Given the description of an element on the screen output the (x, y) to click on. 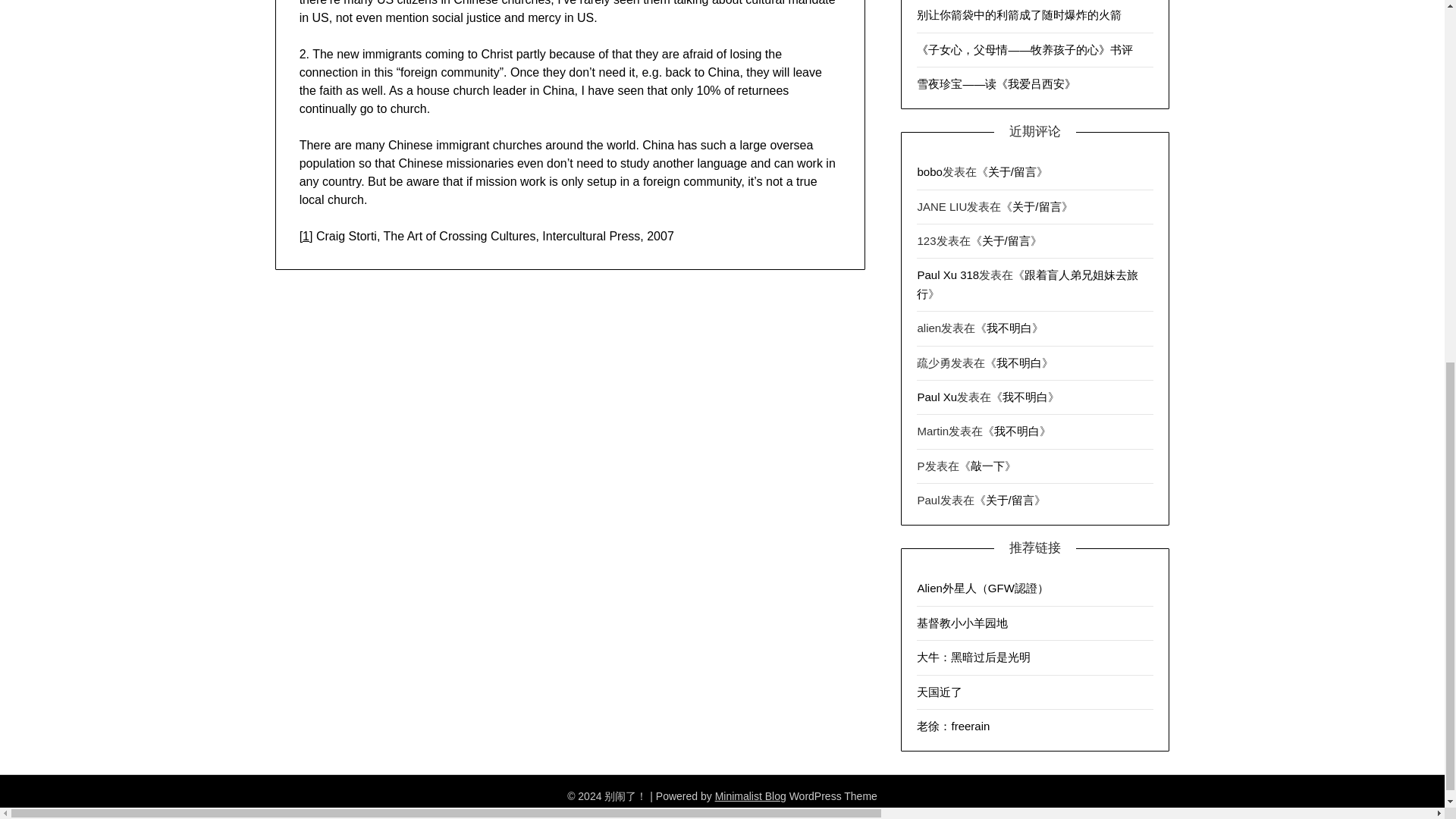
Paul Xu 318 (947, 274)
Paul Xu (936, 396)
bobo (929, 171)
